Given the description of an element on the screen output the (x, y) to click on. 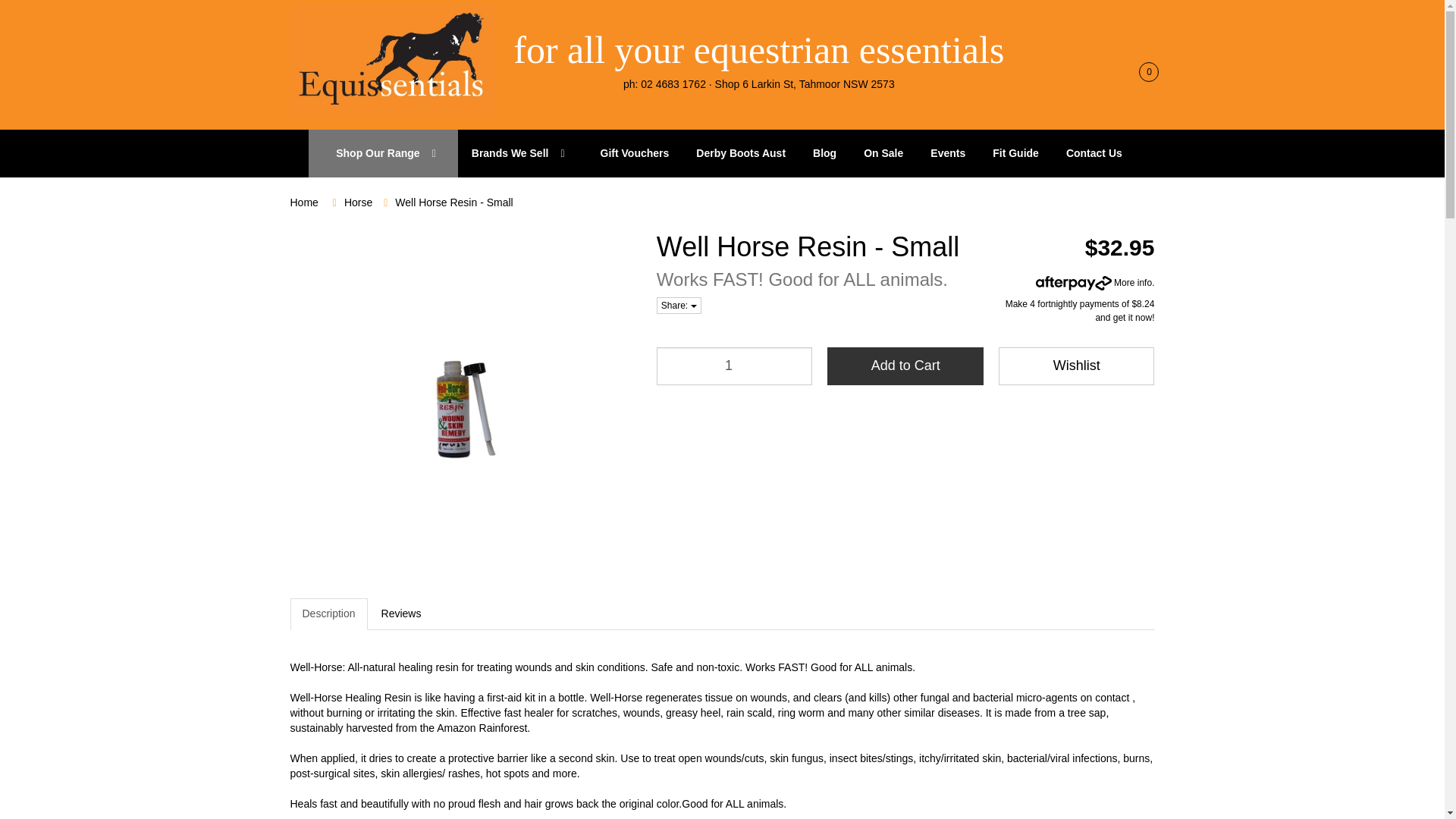
Shop Our Range (383, 153)
1 (734, 365)
Equissentials (392, 58)
Add to Cart (905, 365)
0 (1142, 70)
